Given the description of an element on the screen output the (x, y) to click on. 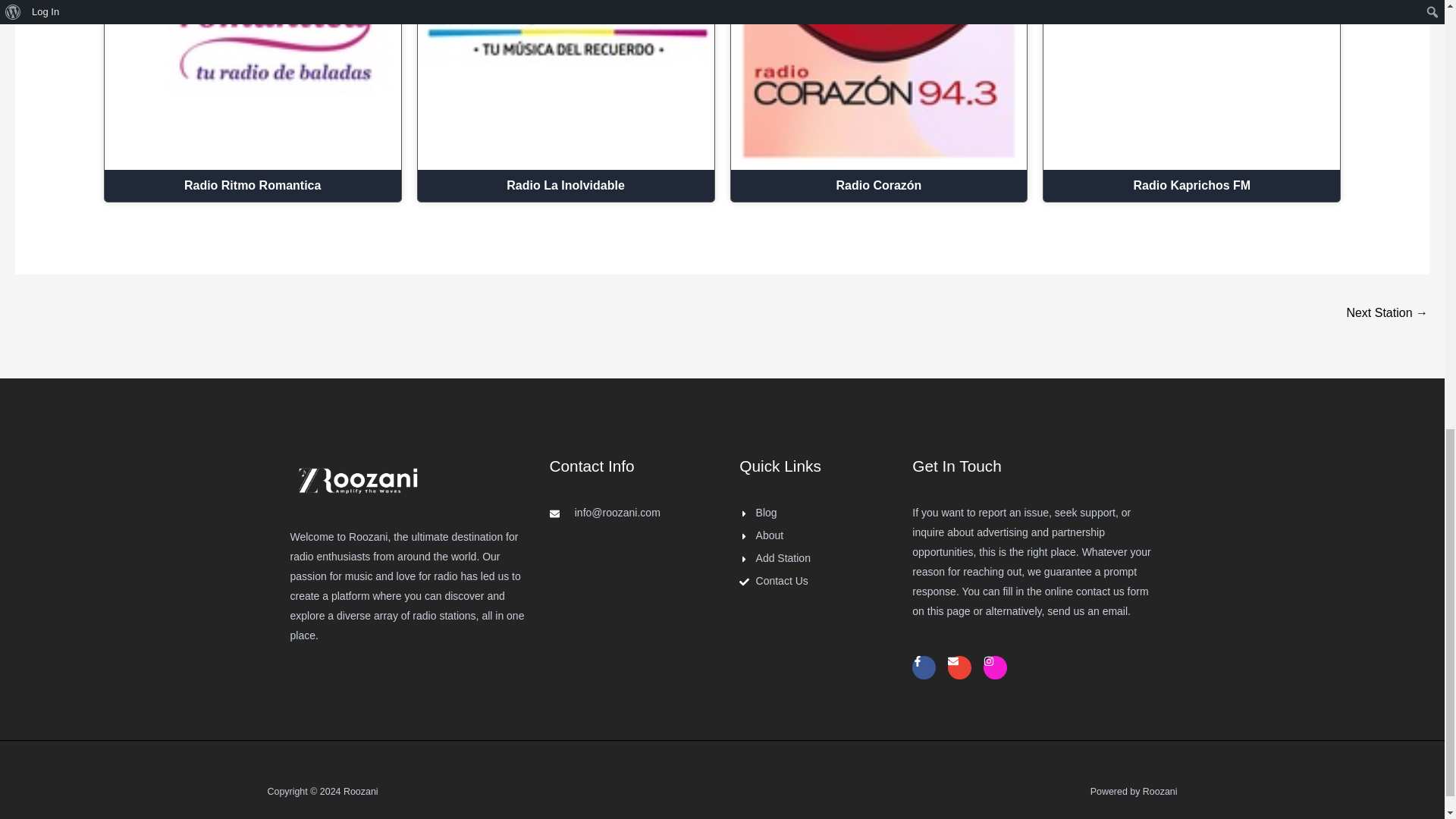
Aeroestereo (1386, 314)
Radio Ritmo Romantica (252, 185)
Radio La Inolvidable (566, 185)
